Given the description of an element on the screen output the (x, y) to click on. 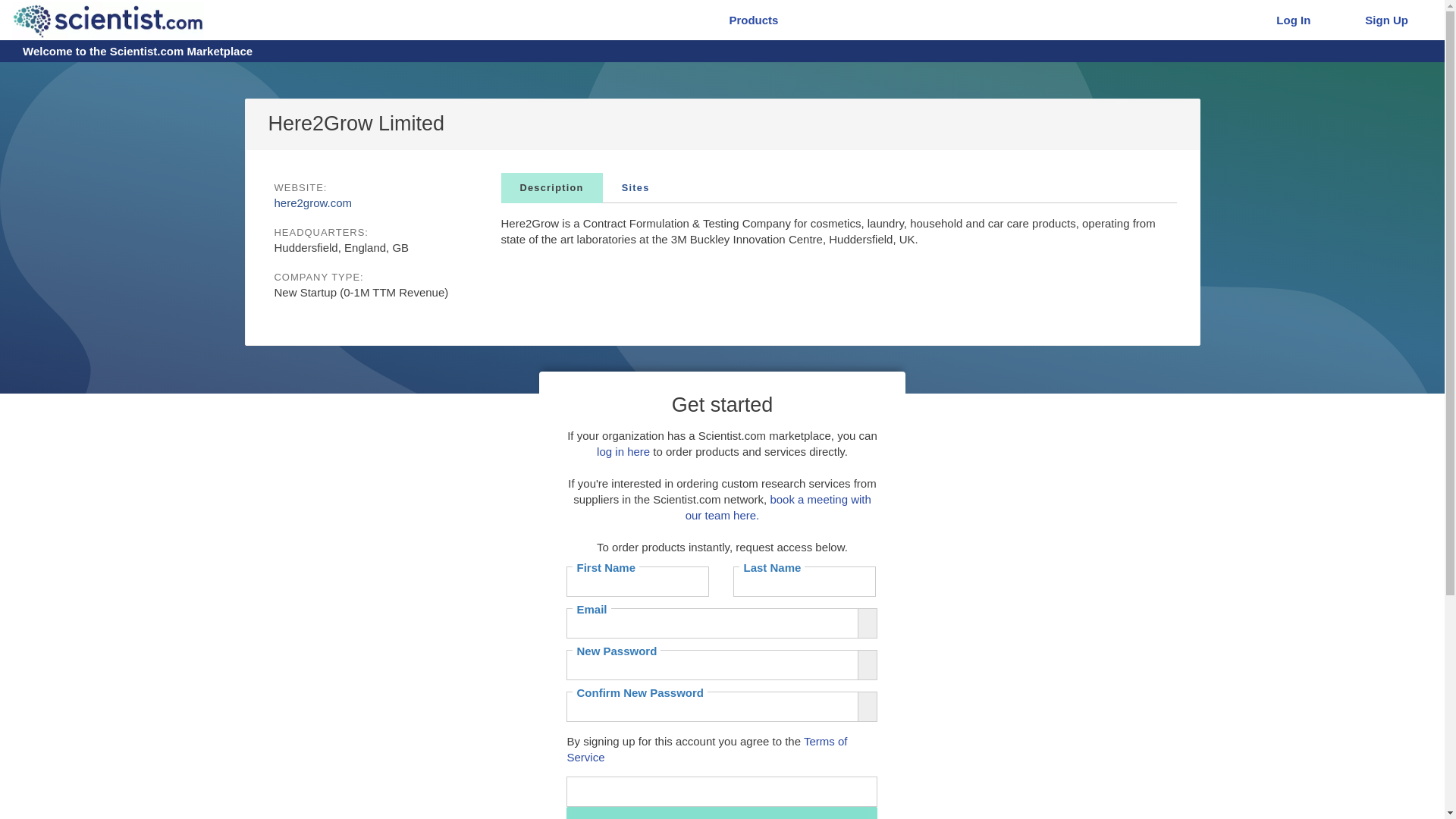
book a meeting with our team here. (777, 507)
Log In (1290, 20)
here2grow.com (313, 202)
Products (750, 20)
Terms of Service (706, 748)
Sites (635, 187)
log in here (622, 451)
Sign Up (1383, 20)
Description (551, 187)
Request Access (721, 812)
